Given the description of an element on the screen output the (x, y) to click on. 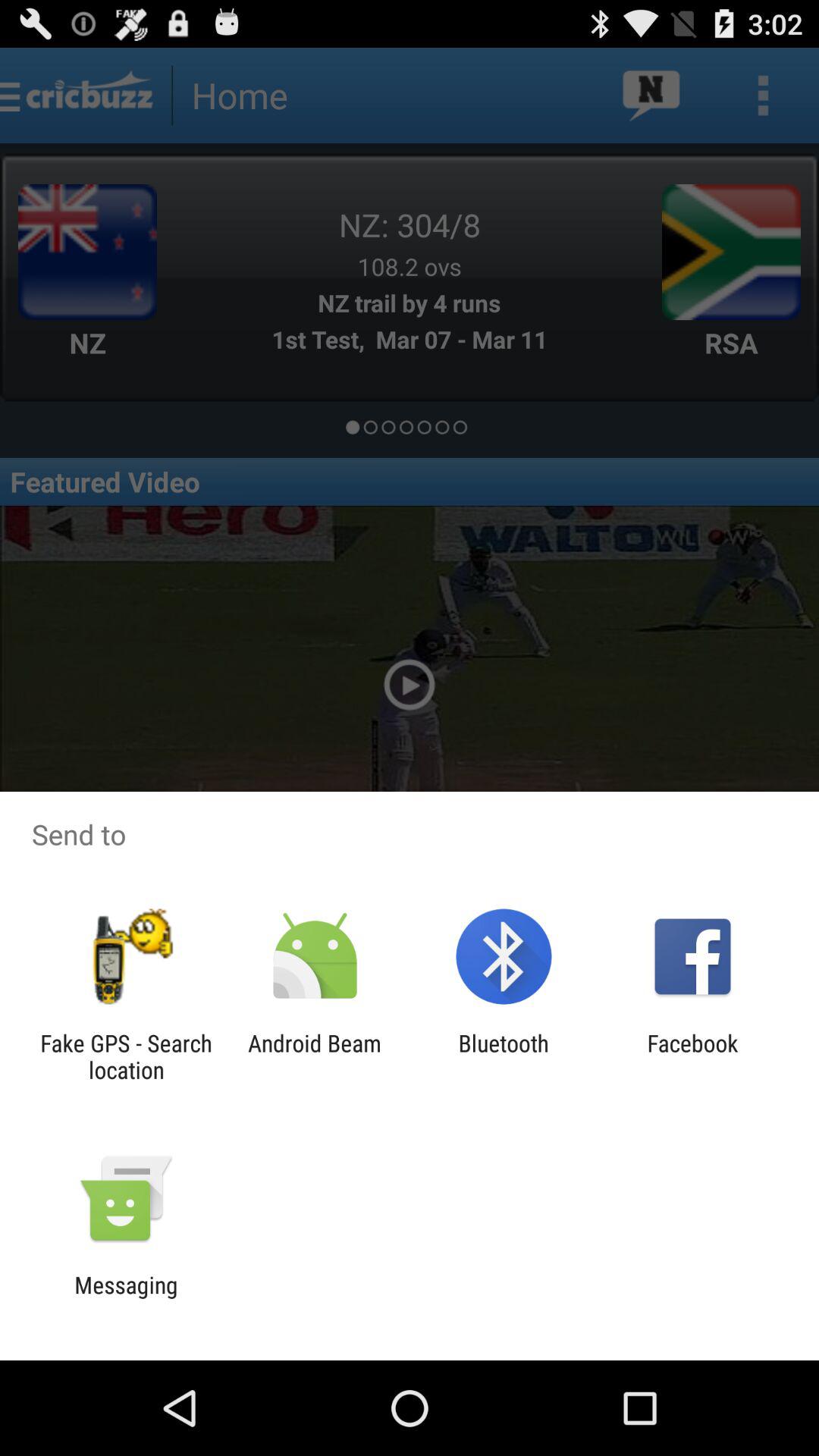
turn off the app next to the fake gps search item (314, 1056)
